Given the description of an element on the screen output the (x, y) to click on. 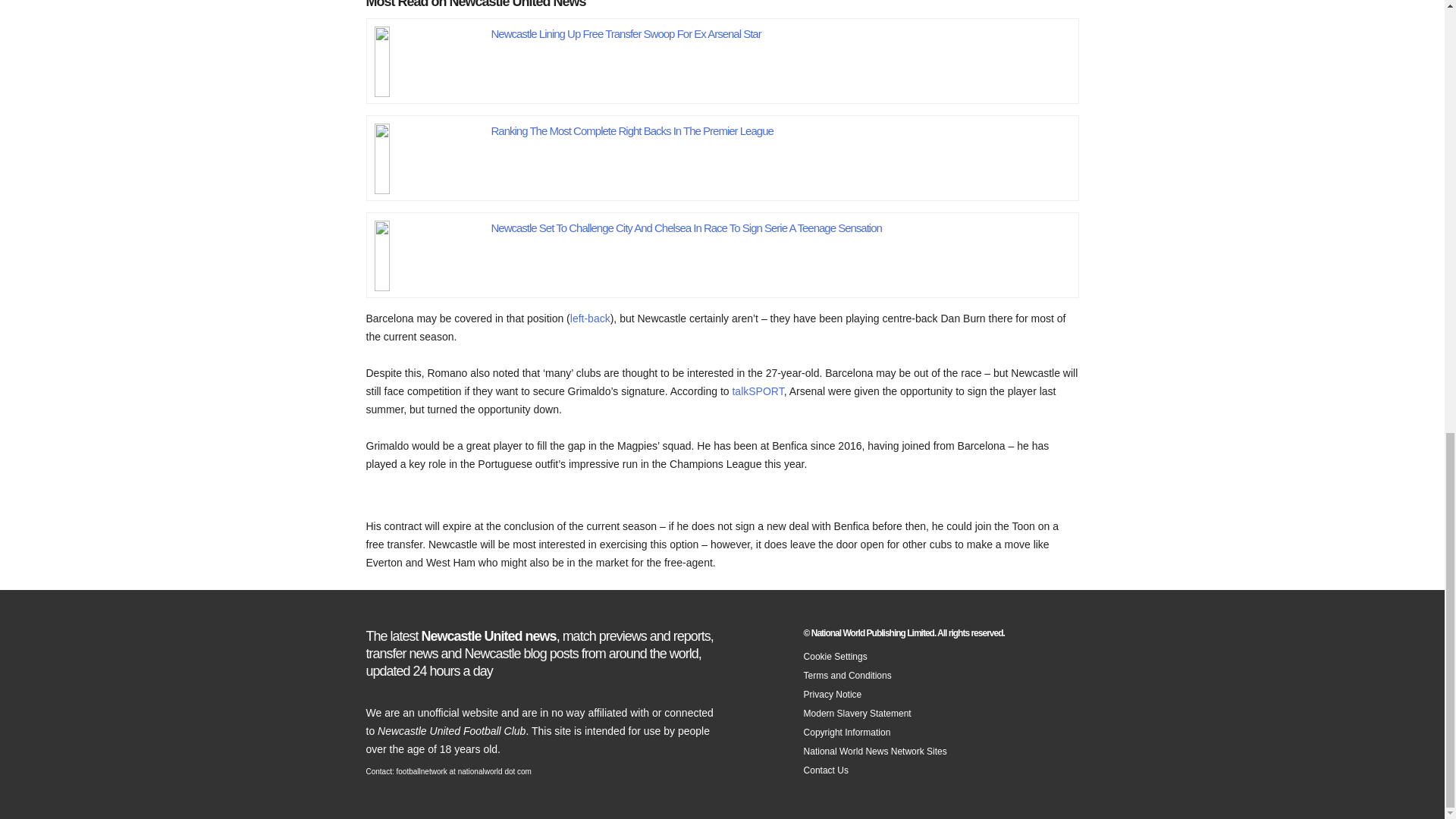
Cookie Settings (835, 655)
Contact Us (825, 769)
Ranking The Most Complete Right Backs In The Premier League (429, 154)
Copyright Information (847, 731)
Newcastle Lining Up Free Transfer Swoop For Ex Arsenal Star (626, 33)
left-back (590, 318)
Ranking The Most Complete Right Backs In The Premier League (632, 130)
talkSPORT (757, 390)
National World News Network Sites (875, 751)
